Given the description of an element on the screen output the (x, y) to click on. 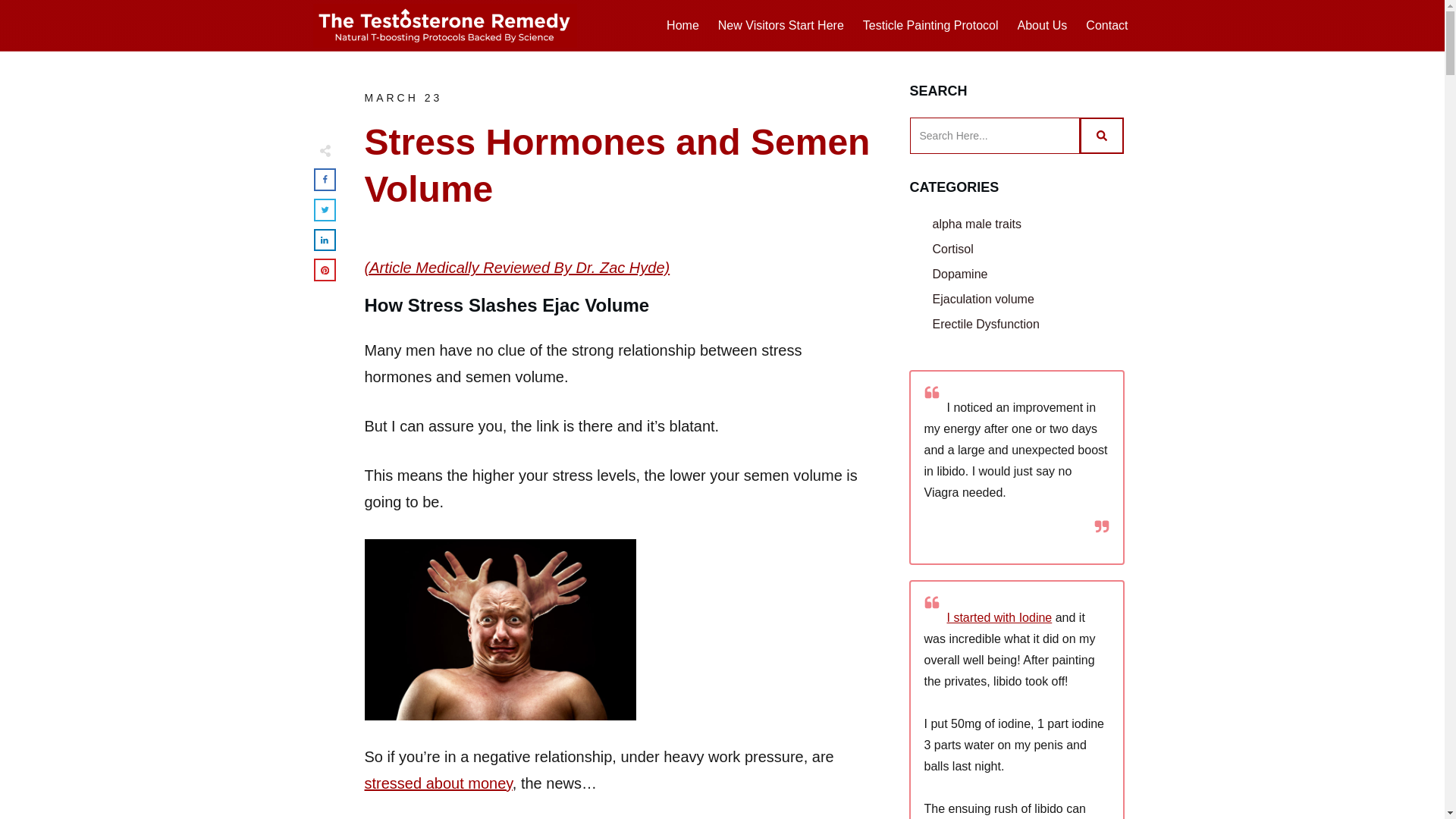
Testicle Painting Protocol (930, 25)
New Visitors Start Here (780, 25)
About Us (1042, 25)
Contact (1106, 25)
Home (682, 25)
stressed about money (438, 782)
